Given the description of an element on the screen output the (x, y) to click on. 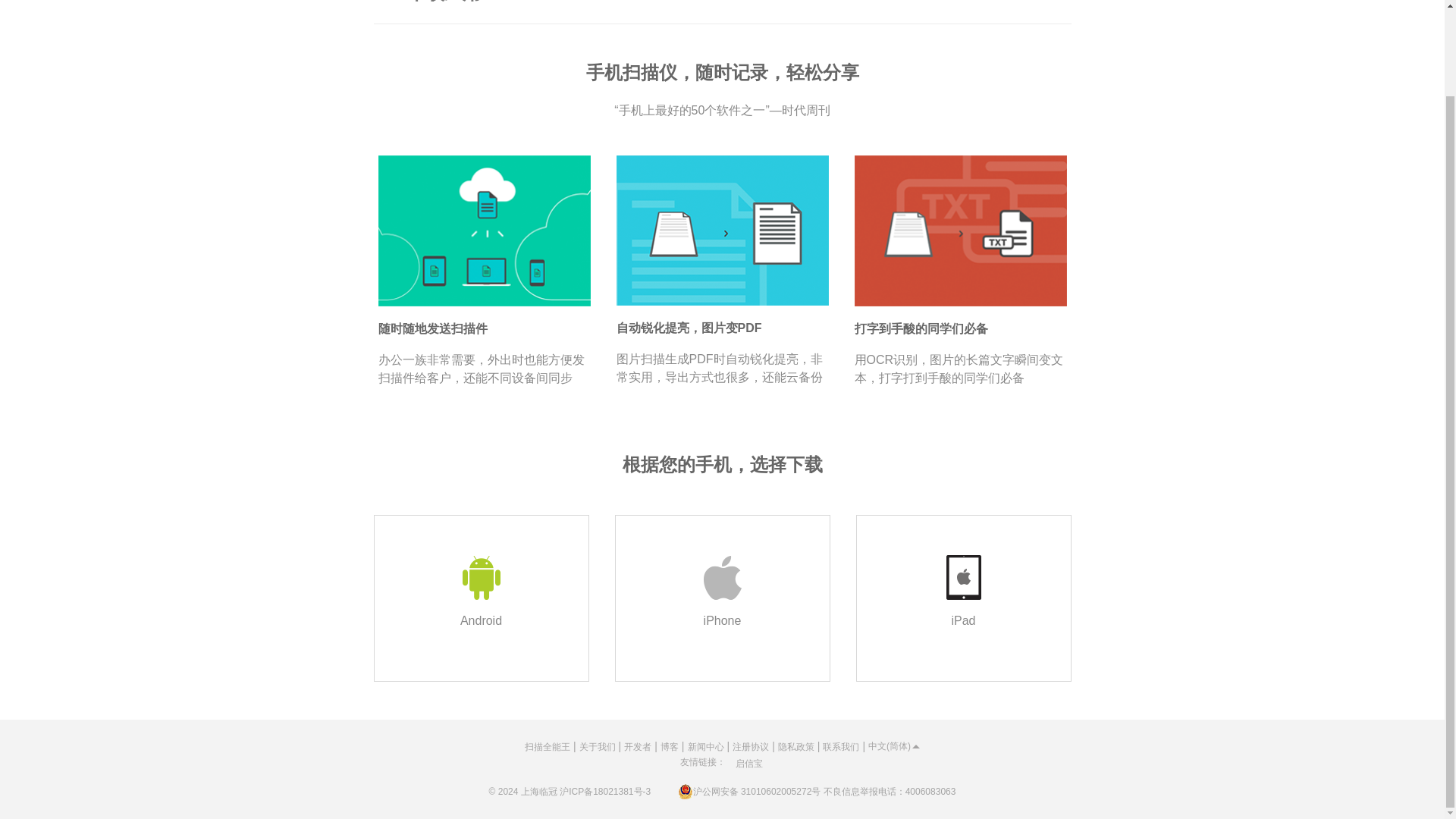
Android (480, 598)
iPhone (721, 598)
iPad (963, 598)
